Given the description of an element on the screen output the (x, y) to click on. 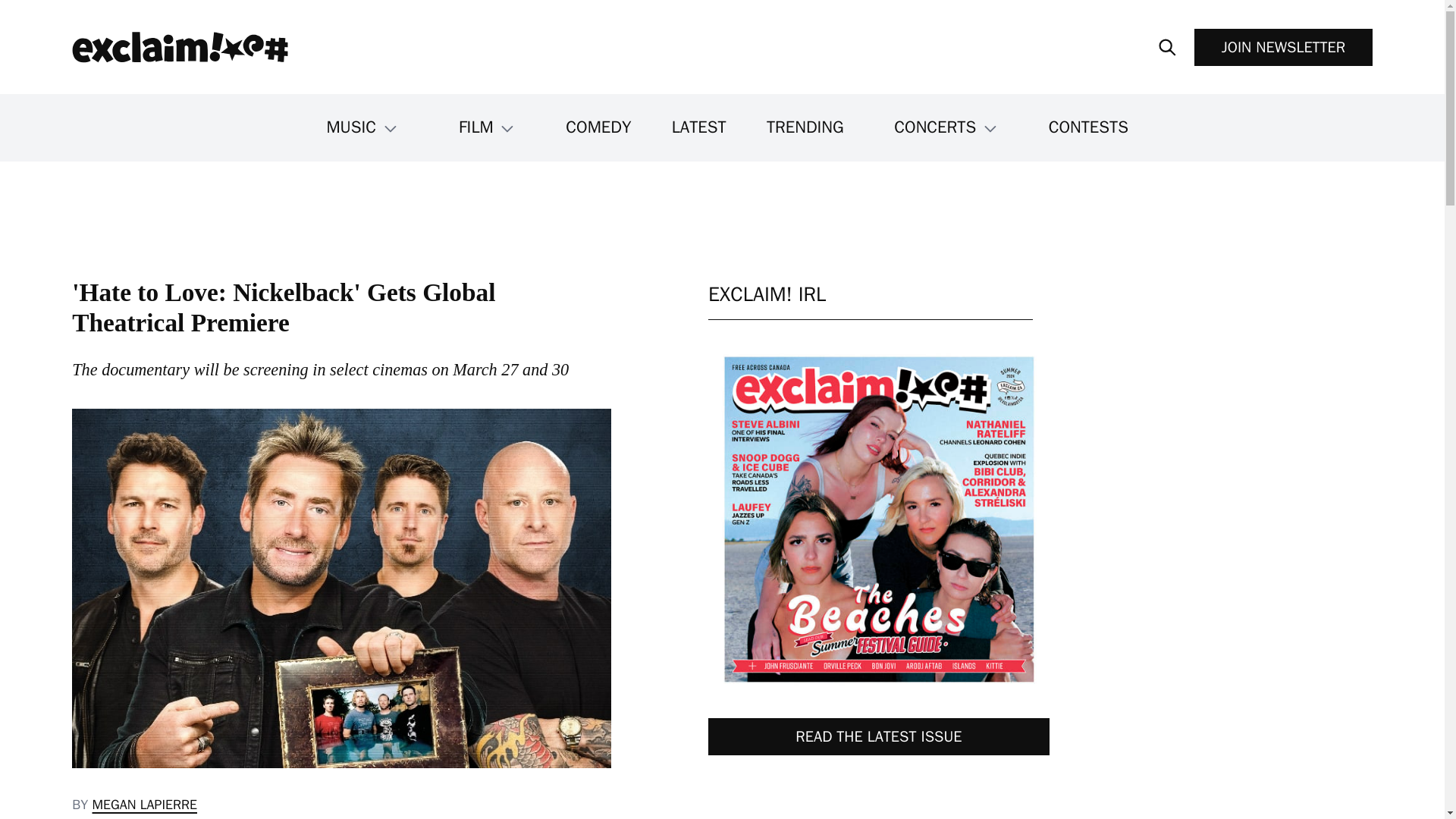
READ THE LATEST ISSUE (878, 736)
Open search (1167, 46)
TRENDING (805, 127)
COMEDY (598, 127)
MUSIC (361, 127)
CONTESTS (1088, 127)
JOIN NEWSLETTER (1283, 47)
MEGAN LAPIERRE (144, 804)
LATEST (698, 127)
FILM (486, 127)
Home (178, 46)
CONCERTS (945, 127)
